Given the description of an element on the screen output the (x, y) to click on. 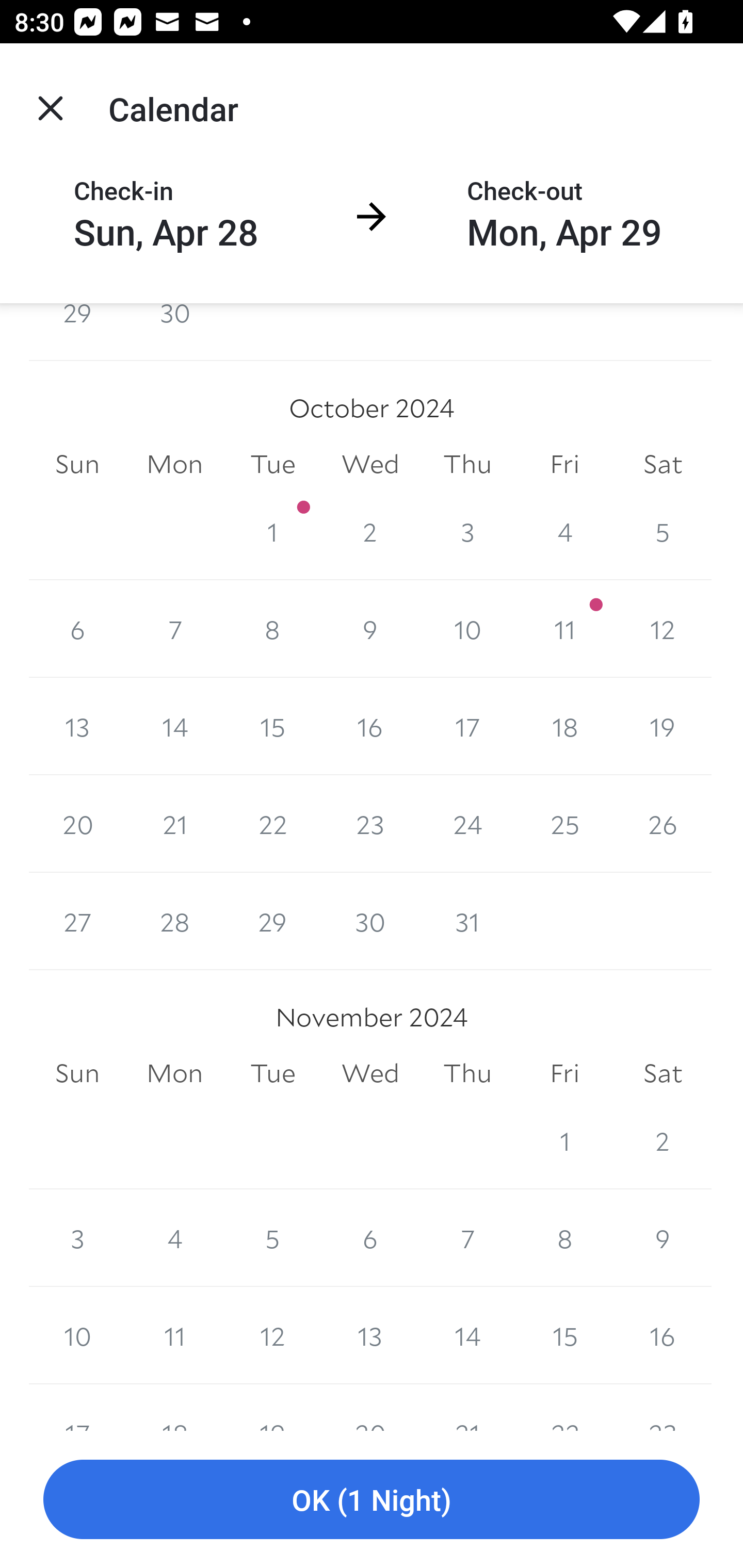
29 29 September 2024 (77, 331)
30 30 September 2024 (174, 331)
Sun (77, 463)
Mon (174, 463)
Tue (272, 463)
Wed (370, 463)
Thu (467, 463)
Fri (564, 463)
Sat (662, 463)
1 1 October 2024 (272, 531)
2 2 October 2024 (370, 531)
3 3 October 2024 (467, 531)
4 4 October 2024 (564, 531)
5 5 October 2024 (662, 531)
6 6 October 2024 (77, 628)
7 7 October 2024 (174, 628)
8 8 October 2024 (272, 628)
9 9 October 2024 (370, 628)
10 10 October 2024 (467, 628)
11 11 October 2024 (564, 628)
12 12 October 2024 (662, 628)
13 13 October 2024 (77, 725)
14 14 October 2024 (174, 725)
15 15 October 2024 (272, 725)
16 16 October 2024 (370, 725)
17 17 October 2024 (467, 725)
18 18 October 2024 (564, 725)
19 19 October 2024 (662, 725)
20 20 October 2024 (77, 823)
21 21 October 2024 (174, 823)
22 22 October 2024 (272, 823)
23 23 October 2024 (370, 823)
24 24 October 2024 (467, 823)
25 25 October 2024 (564, 823)
26 26 October 2024 (662, 823)
27 27 October 2024 (77, 921)
28 28 October 2024 (174, 921)
29 29 October 2024 (272, 921)
30 30 October 2024 (370, 921)
31 31 October 2024 (467, 921)
Sun (77, 1073)
Mon (174, 1073)
Tue (272, 1073)
Wed (370, 1073)
Thu (467, 1073)
Fri (564, 1073)
Sat (662, 1073)
1 1 November 2024 (564, 1140)
2 2 November 2024 (662, 1140)
3 3 November 2024 (77, 1238)
4 4 November 2024 (174, 1238)
5 5 November 2024 (272, 1238)
6 6 November 2024 (370, 1238)
7 7 November 2024 (467, 1238)
8 8 November 2024 (564, 1238)
9 9 November 2024 (662, 1238)
10 10 November 2024 (77, 1335)
11 11 November 2024 (174, 1335)
12 12 November 2024 (272, 1335)
13 13 November 2024 (370, 1335)
14 14 November 2024 (467, 1335)
15 15 November 2024 (564, 1335)
16 16 November 2024 (662, 1335)
OK (1 Night) (371, 1499)
